Given the description of an element on the screen output the (x, y) to click on. 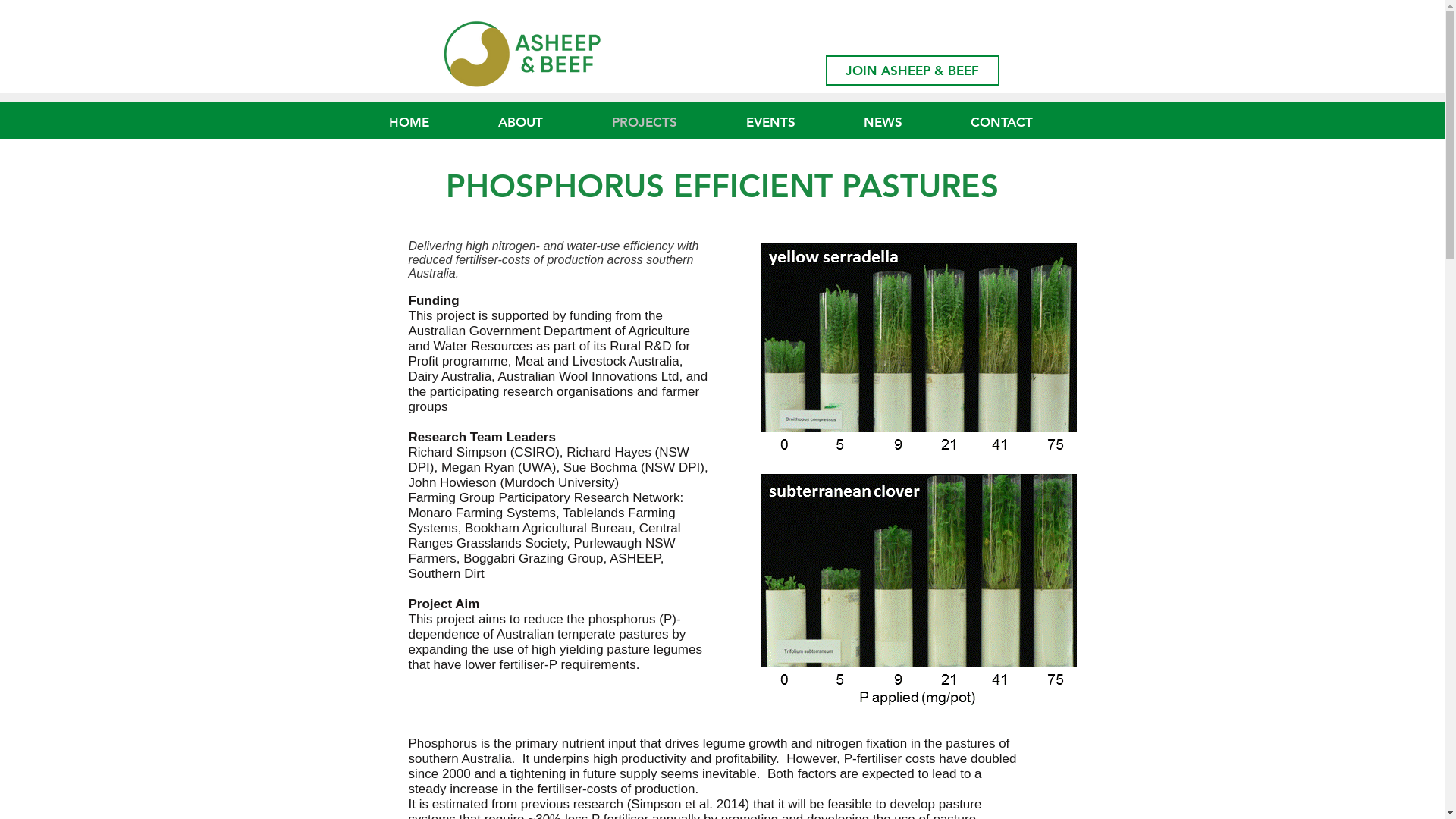
CONTACT Element type: text (1023, 121)
JOIN ASHEEP & BEEF Element type: text (911, 70)
PROJECTS Element type: text (666, 121)
NEWS Element type: text (903, 121)
ABOUT Element type: text (542, 121)
EVENTS Element type: text (792, 121)
HOME Element type: text (431, 121)
